Given the description of an element on the screen output the (x, y) to click on. 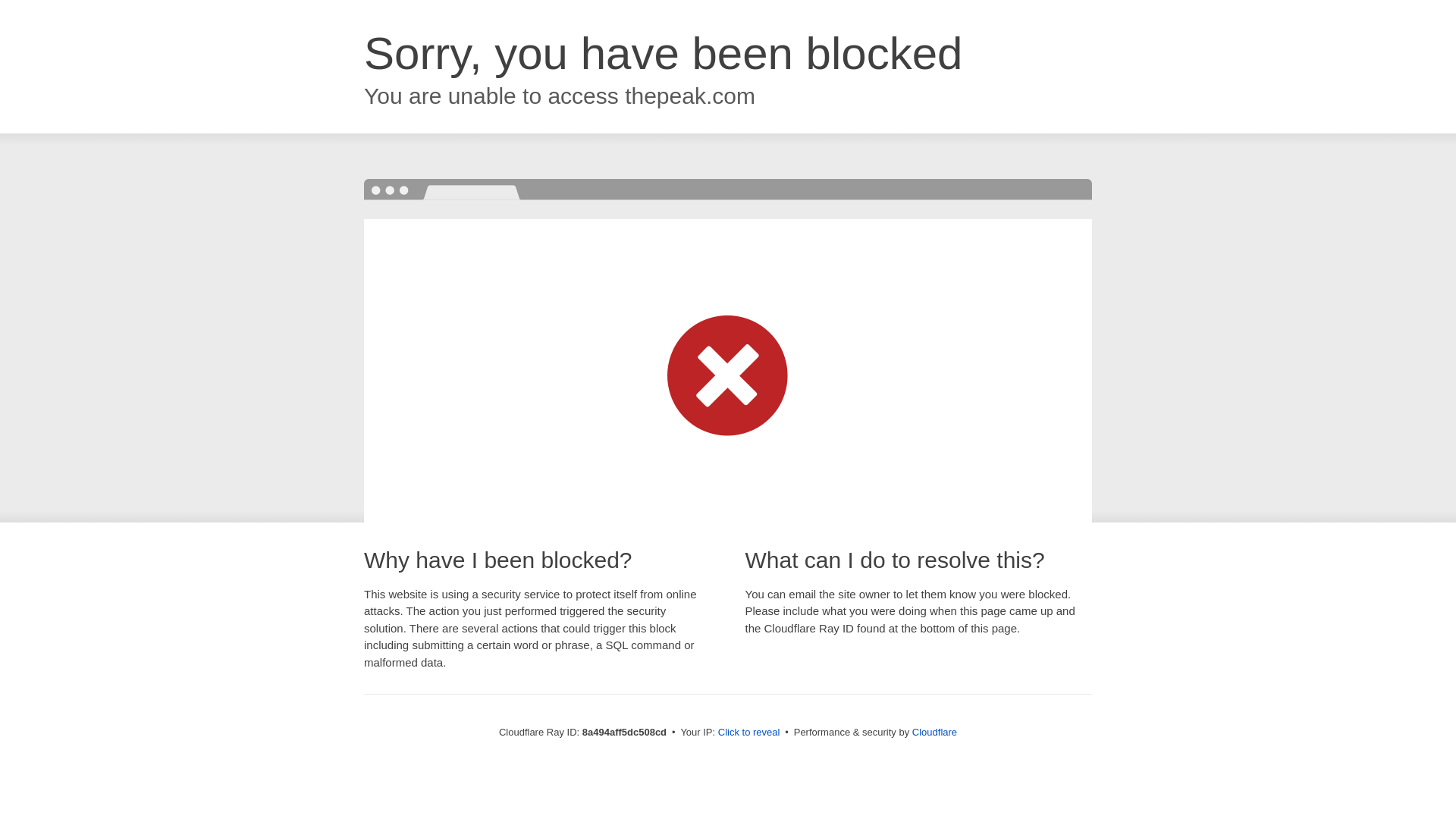
Cloudflare (934, 731)
Click to reveal (748, 732)
